Given the description of an element on the screen output the (x, y) to click on. 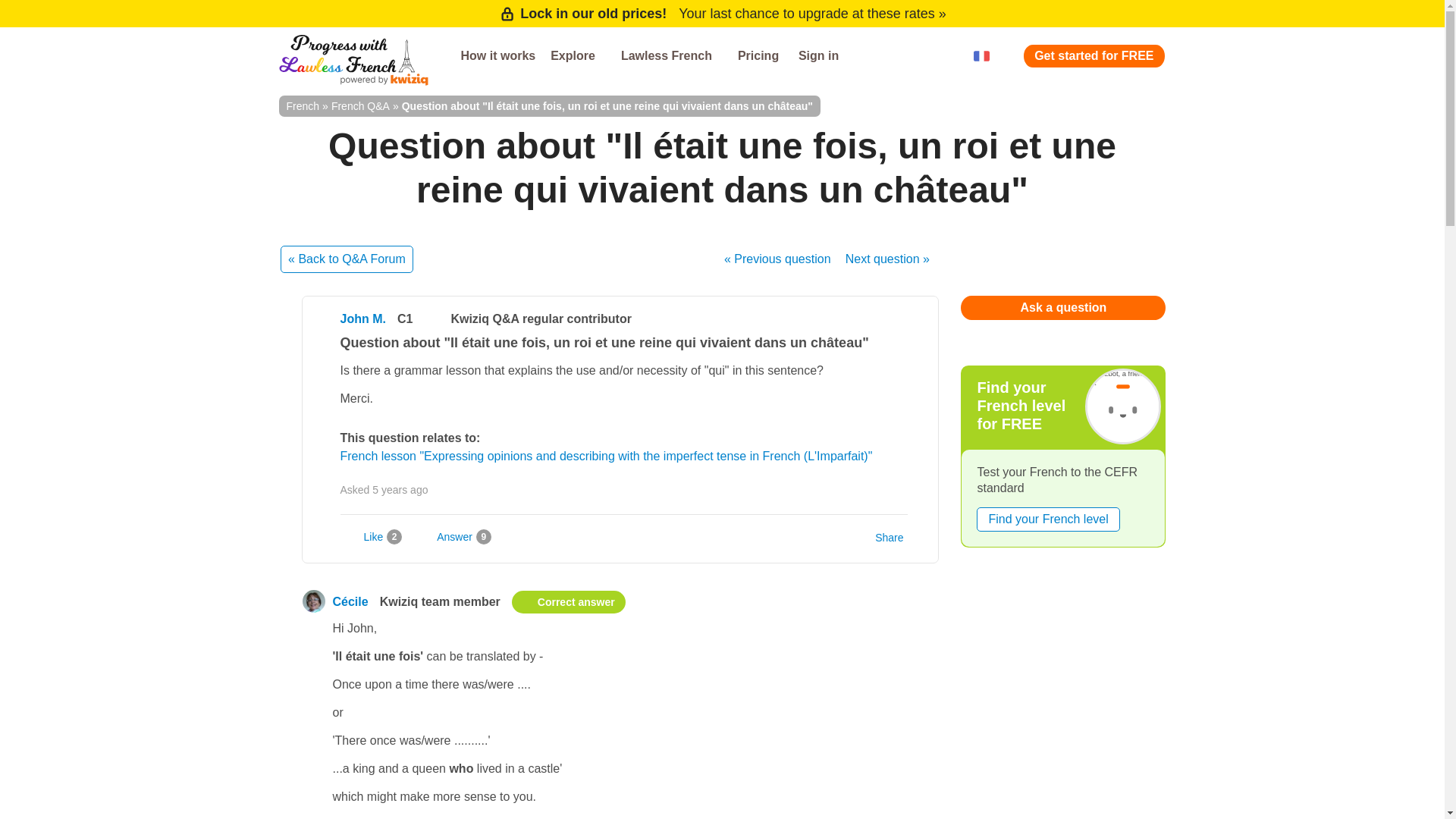
Lawless French (671, 56)
How it works (497, 56)
Explore (577, 56)
18th May 2019 (400, 490)
